Given the description of an element on the screen output the (x, y) to click on. 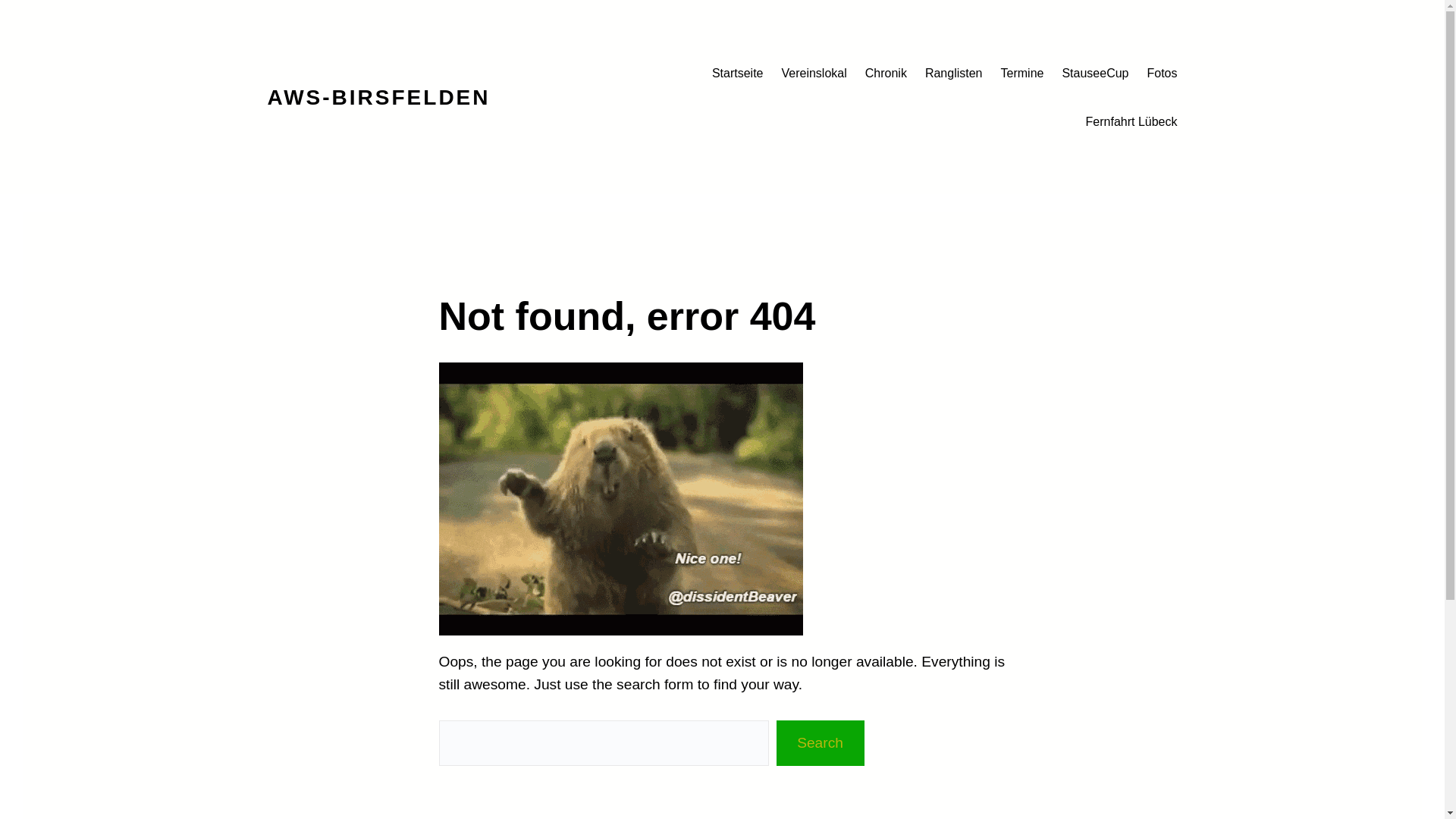
Search Element type: text (820, 742)
Startseite Element type: text (737, 73)
Fotos Element type: text (1161, 73)
Chronik Element type: text (885, 73)
Termine Element type: text (1022, 73)
Vereinslokal Element type: text (813, 73)
AWS-BIRSFELDEN Element type: text (377, 96)
Ranglisten Element type: text (953, 73)
StauseeCup Element type: text (1094, 73)
